Given the description of an element on the screen output the (x, y) to click on. 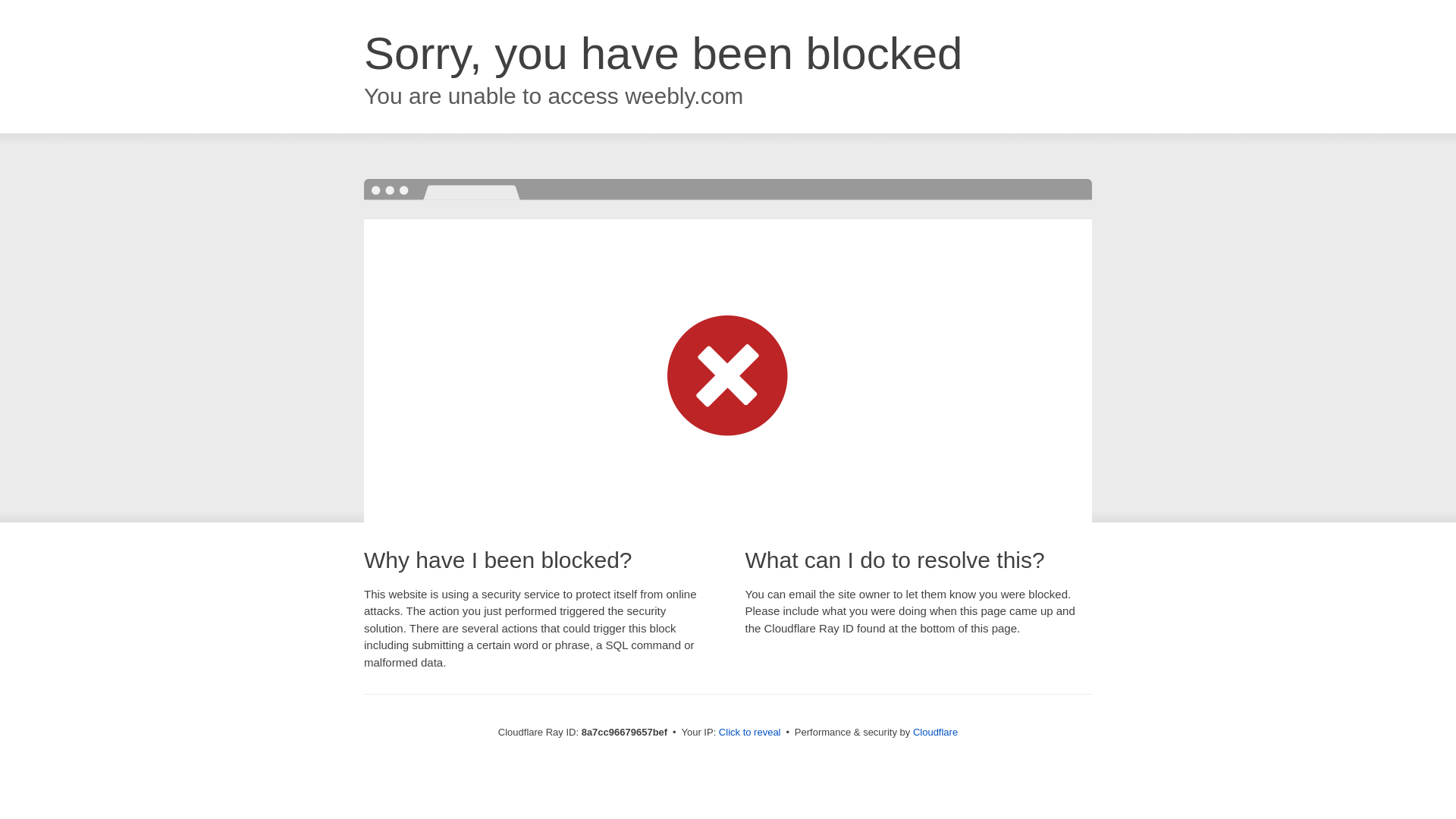
Cloudflare (935, 731)
Click to reveal (749, 732)
